Given the description of an element on the screen output the (x, y) to click on. 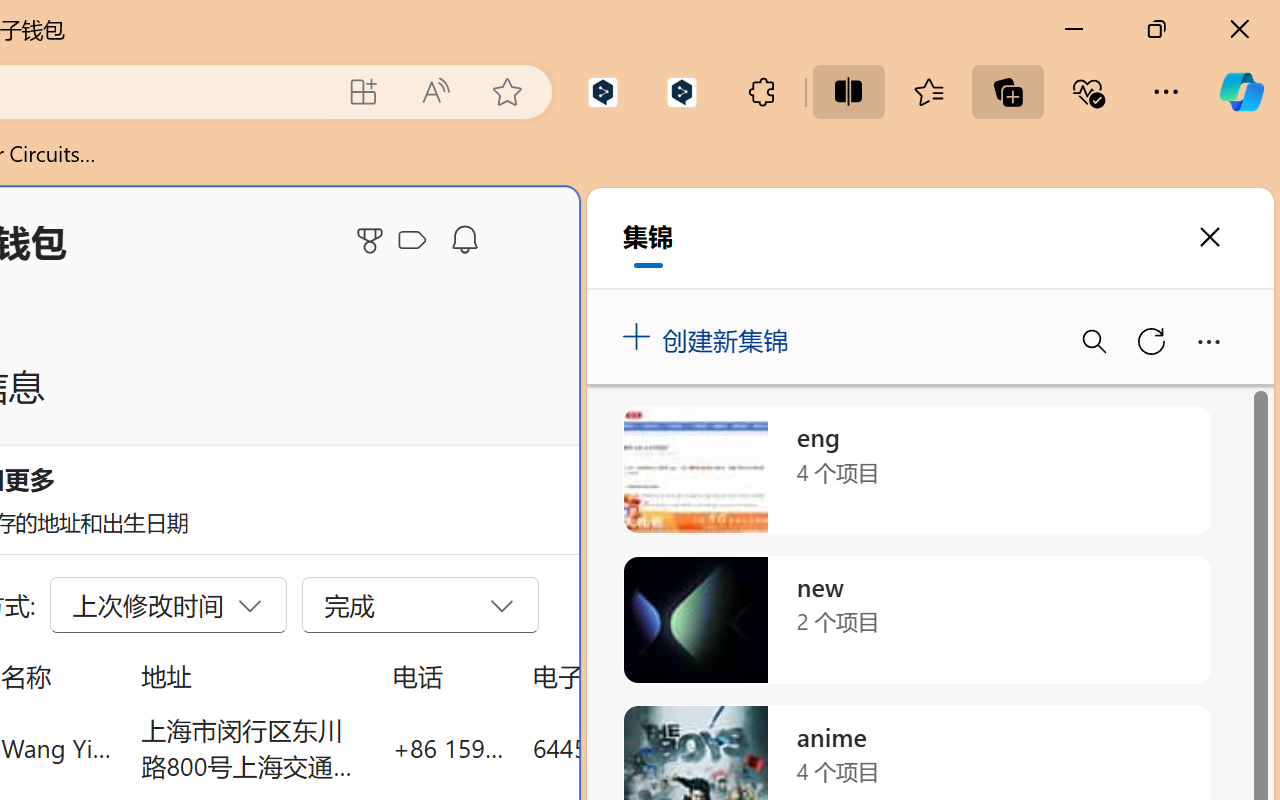
Copilot (Ctrl+Shift+.) (1241, 91)
